Given the description of an element on the screen output the (x, y) to click on. 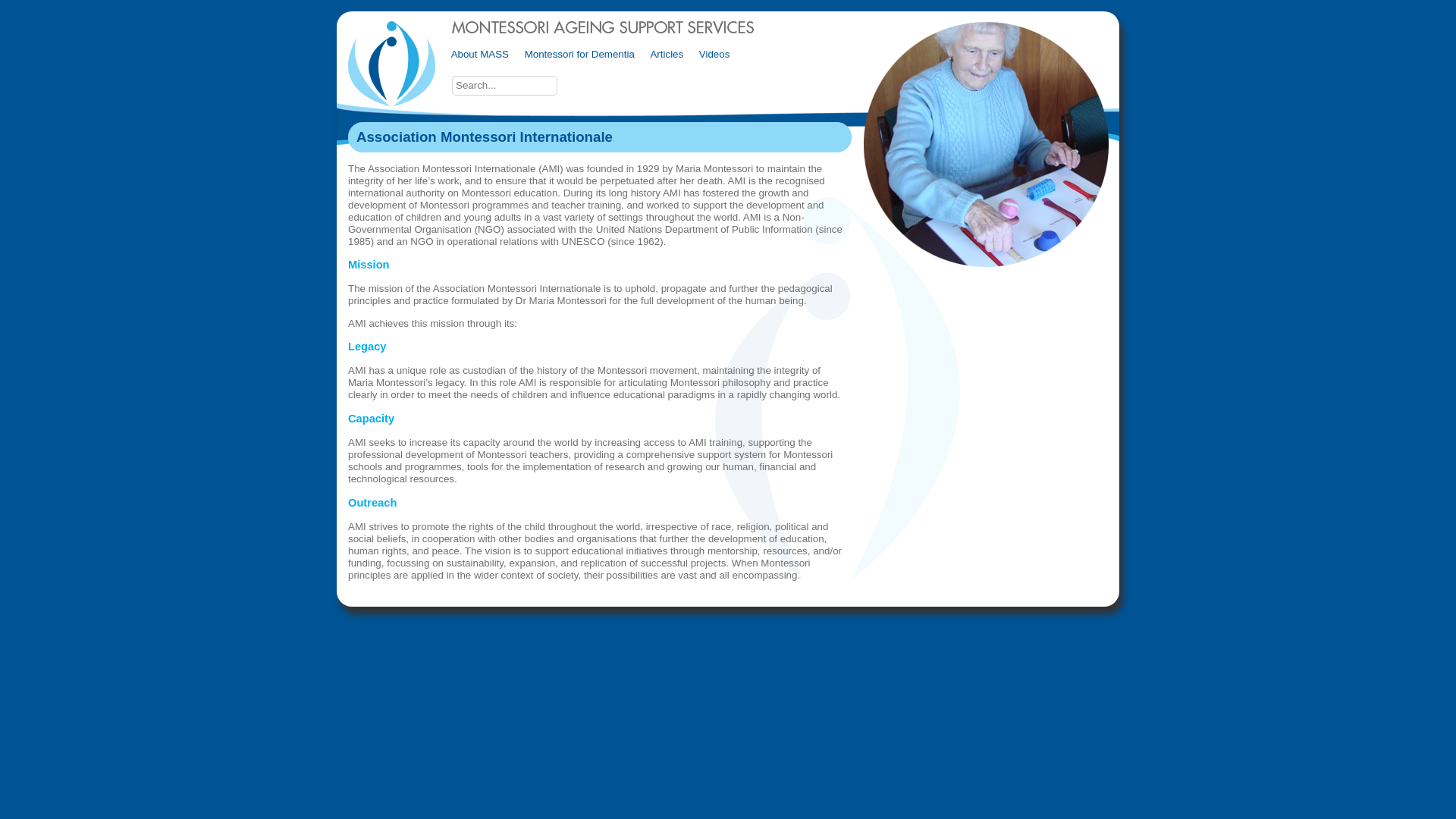
Montessori for Dementia Element type: text (579, 53)
Articles Element type: text (666, 53)
Search Element type: text (576, 85)
Enter the terms you wish to search for. Element type: hover (504, 85)
Videos Element type: text (714, 53)
About MASS Element type: text (479, 53)
Skip to main content Element type: text (773, 11)
